Given the description of an element on the screen output the (x, y) to click on. 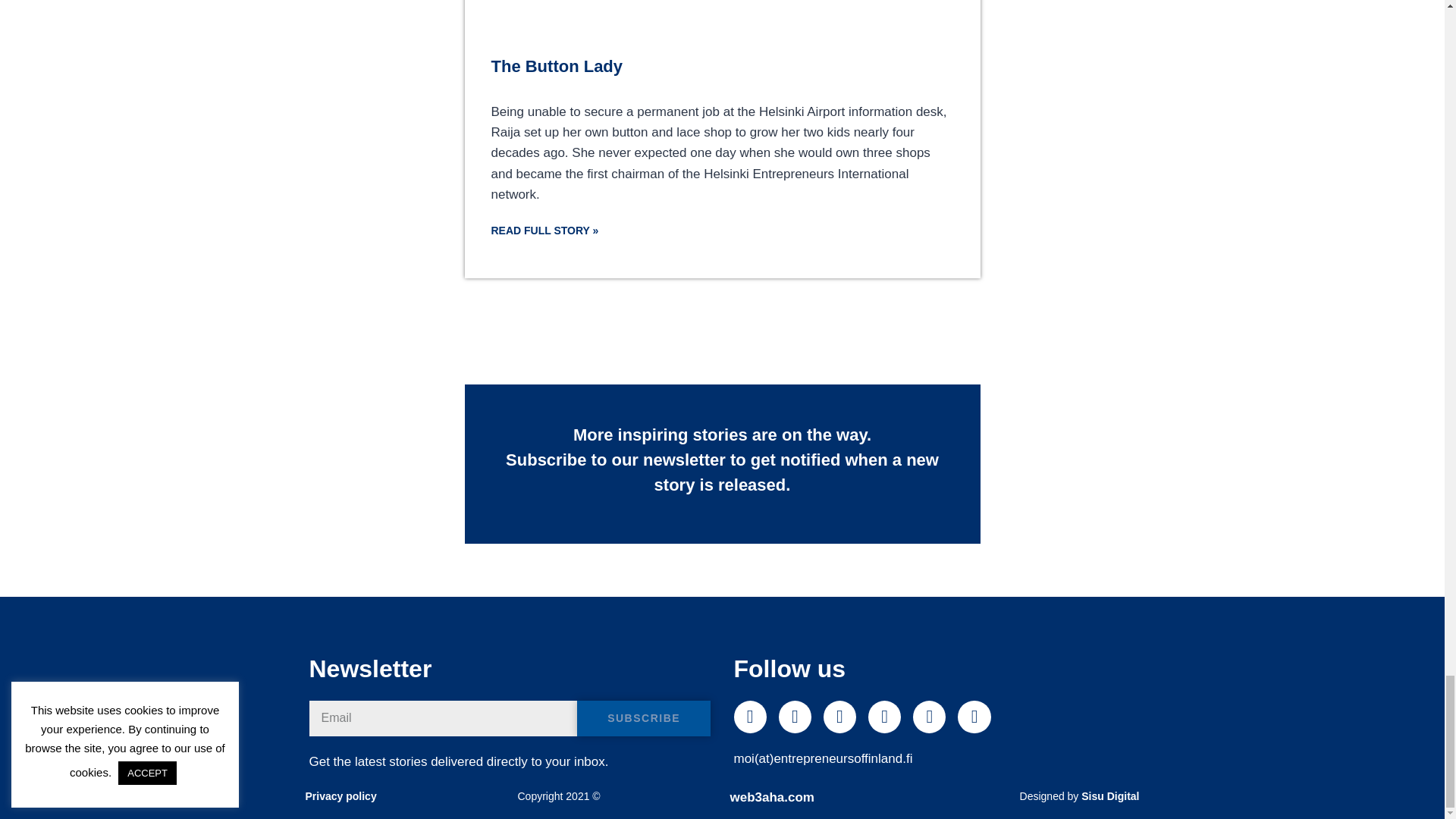
Movies 5 (721, 20)
SUBSCRIBE (643, 718)
The Button Lady (557, 66)
